Given the description of an element on the screen output the (x, y) to click on. 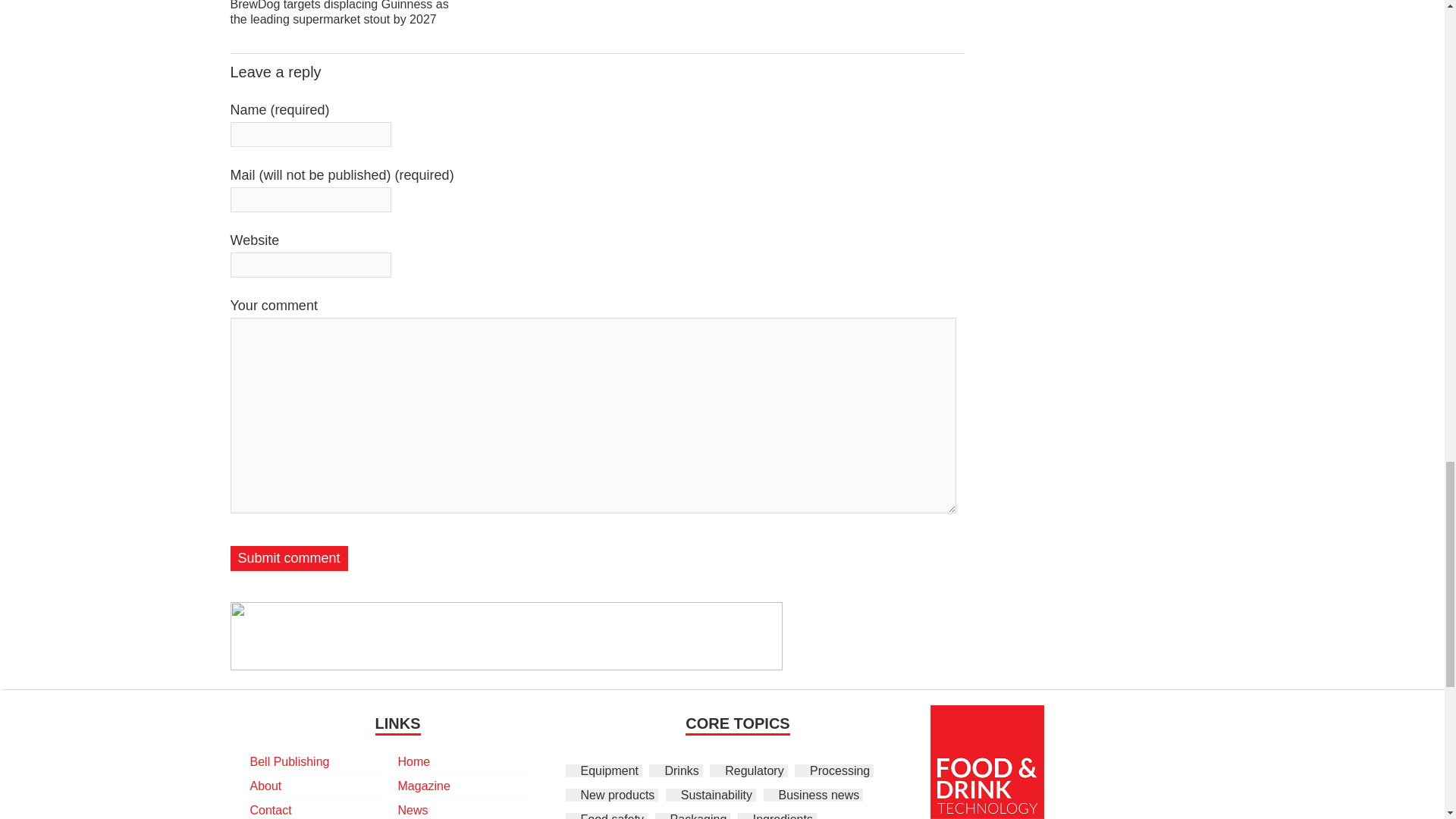
Submit comment (288, 558)
